Given the description of an element on the screen output the (x, y) to click on. 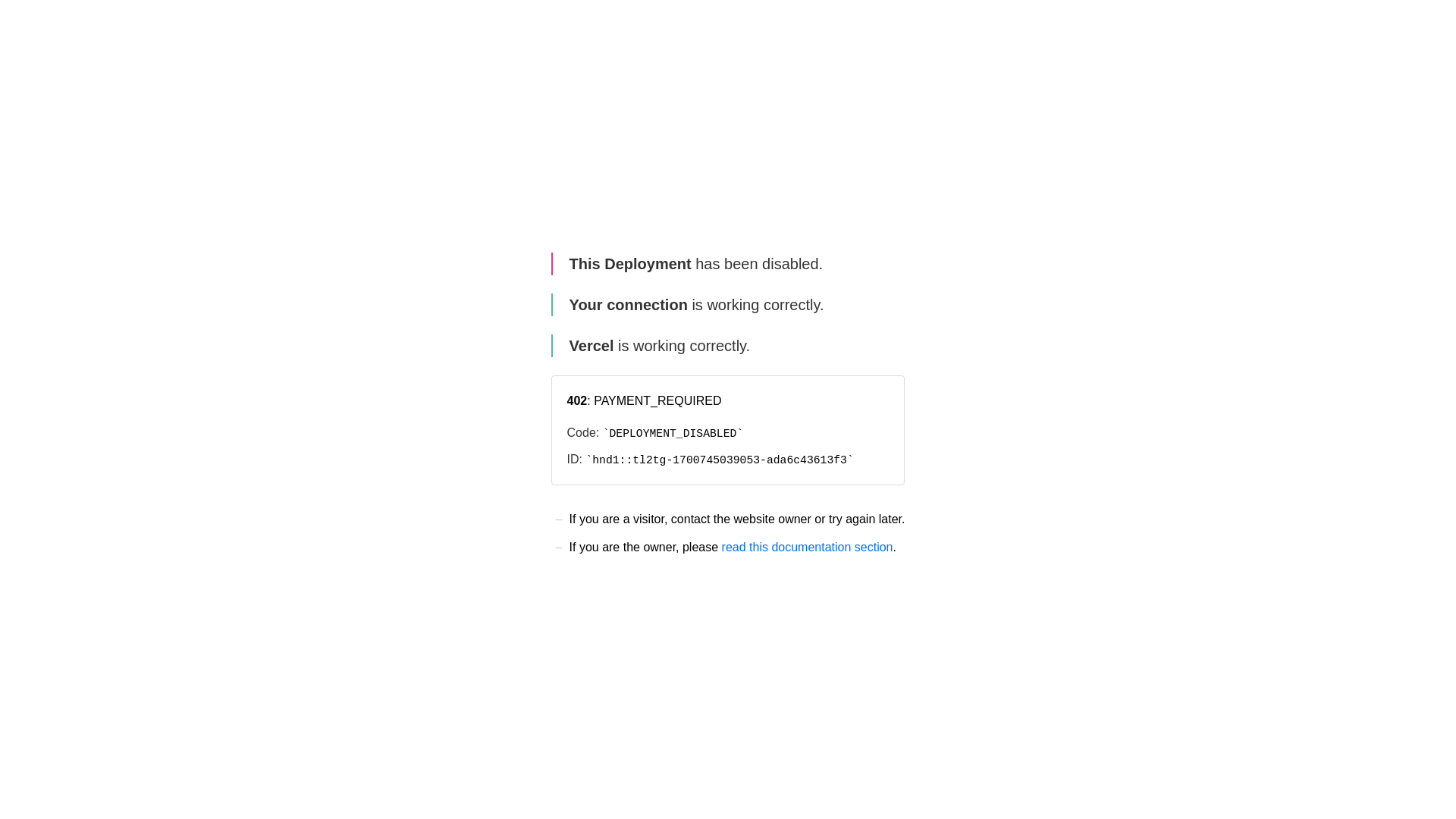
read this documentation section Element type: text (807, 547)
